Given the description of an element on the screen output the (x, y) to click on. 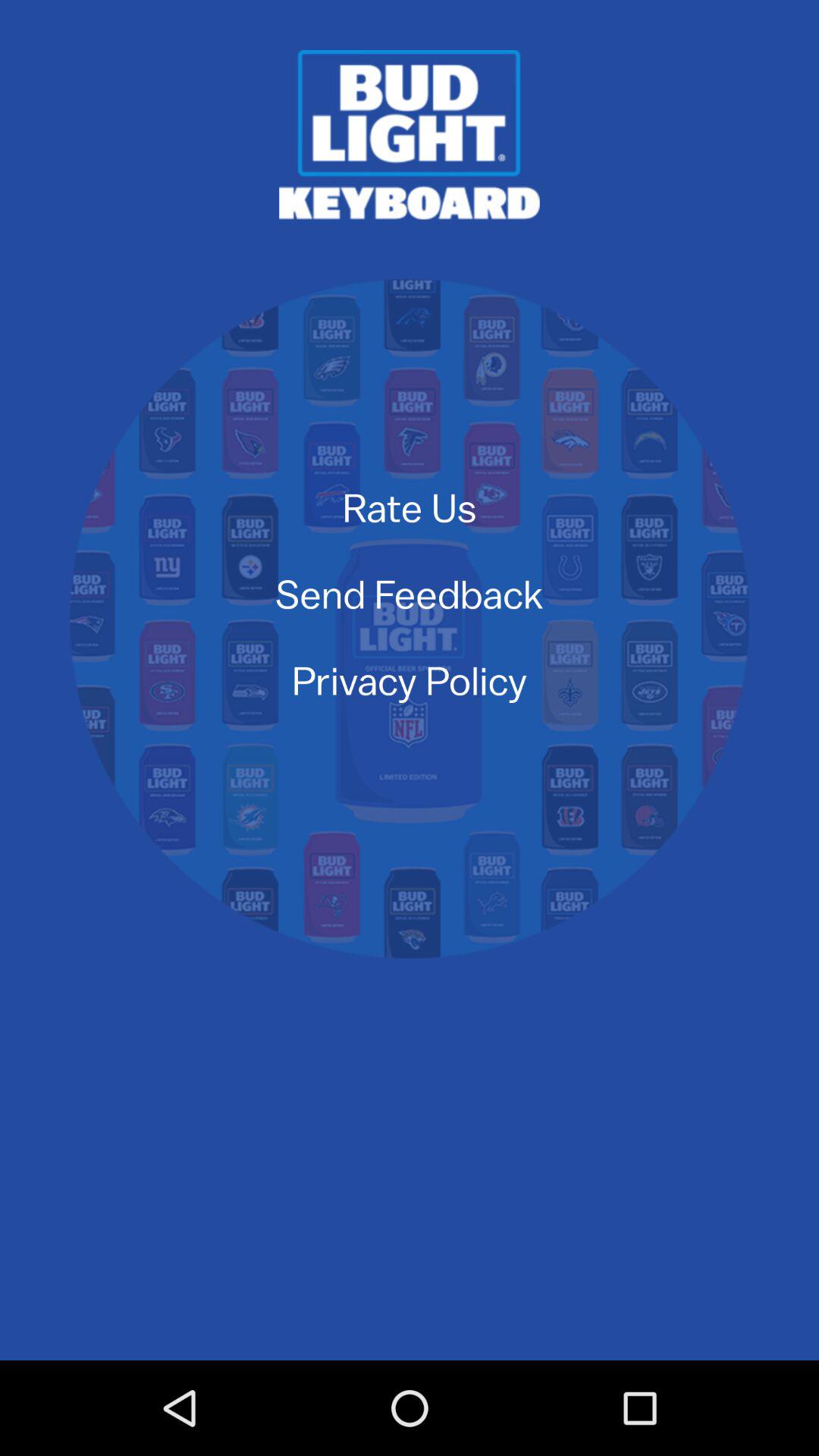
choose the icon below the send feedback item (409, 679)
